Given the description of an element on the screen output the (x, y) to click on. 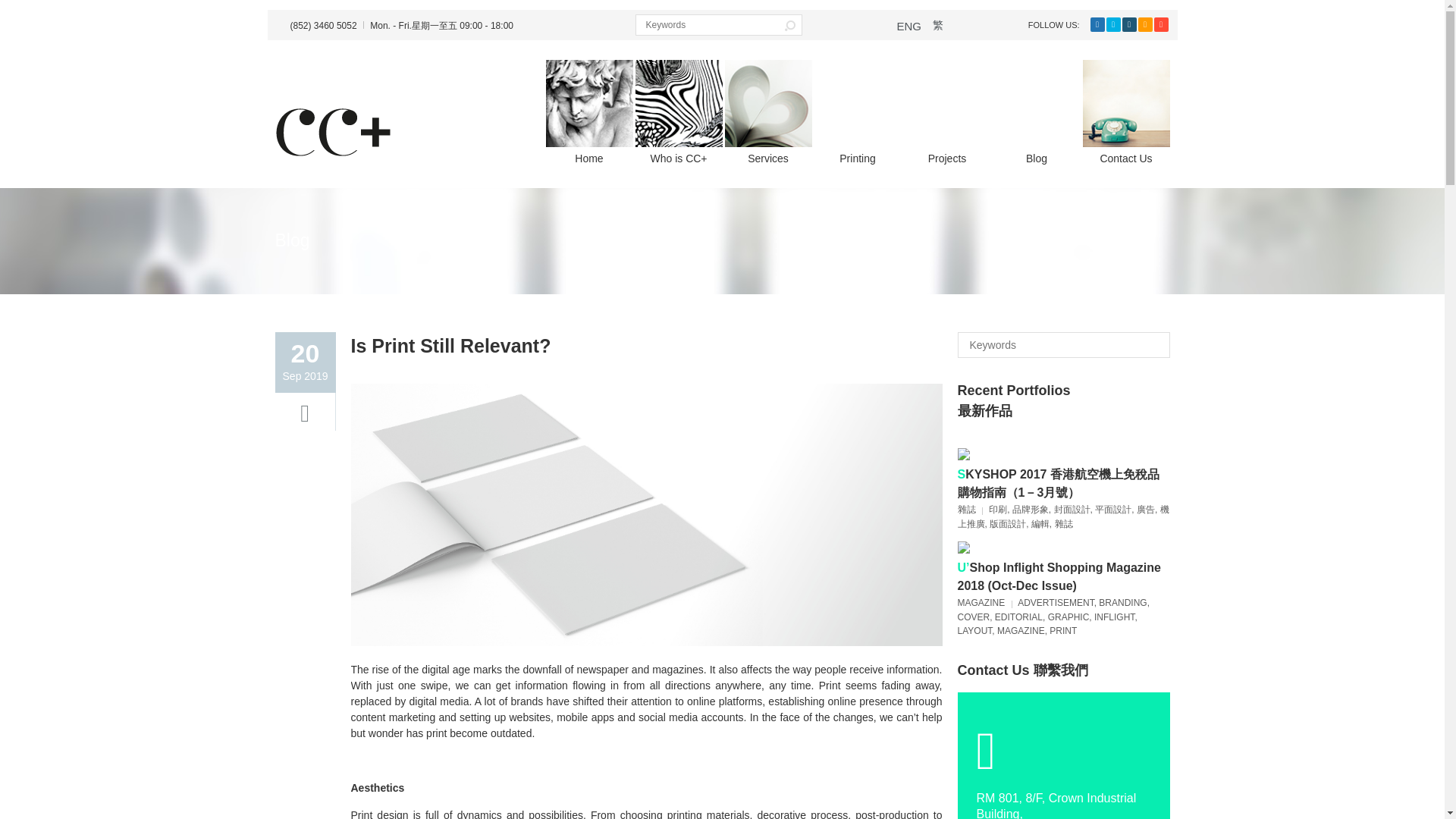
ENG (908, 25)
LinkedIN (1144, 24)
Keywords (1158, 344)
Keywords (1158, 344)
Instagram (1129, 24)
Facebook (1097, 24)
Twitter (1112, 24)
Pinterest (1161, 24)
